Given the description of an element on the screen output the (x, y) to click on. 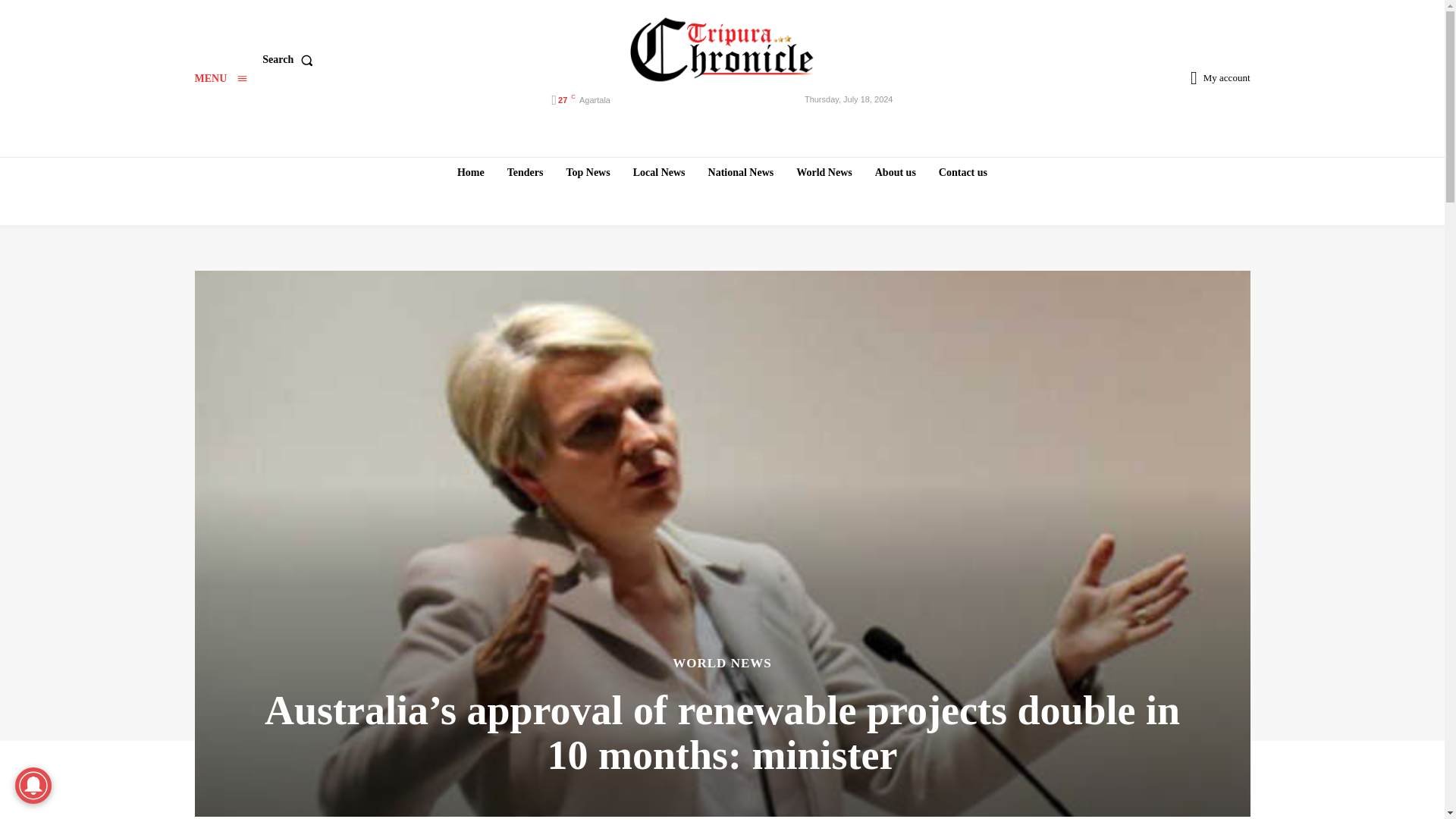
Menu (220, 78)
MENU (220, 78)
Search (290, 60)
Home (470, 172)
World News (824, 172)
Local News (659, 172)
Top News (587, 172)
National News (740, 172)
Tenders (525, 172)
